Given the description of an element on the screen output the (x, y) to click on. 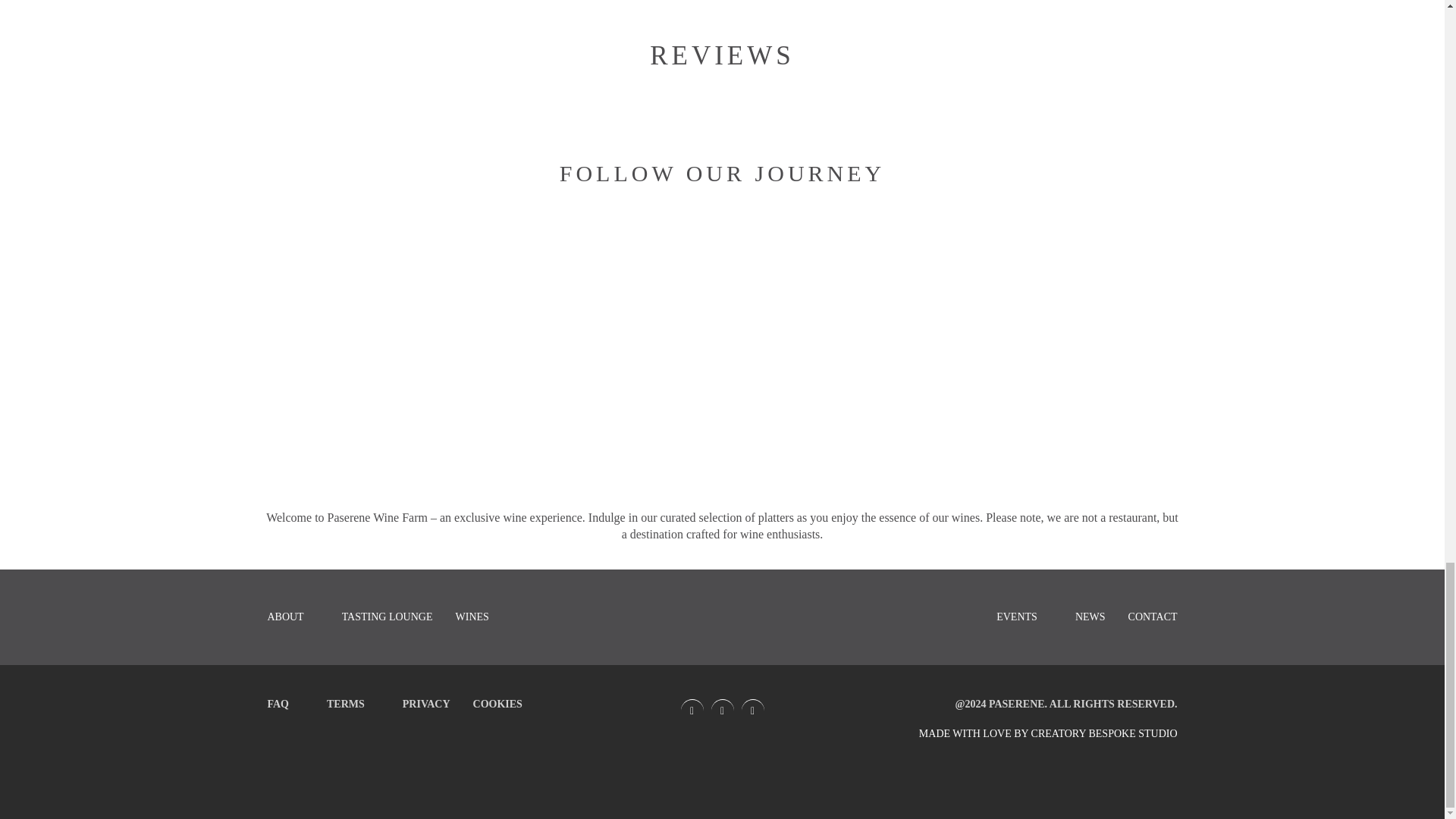
Facebook (692, 710)
Instagram (722, 710)
Tripadvisor (752, 710)
